Given the description of an element on the screen output the (x, y) to click on. 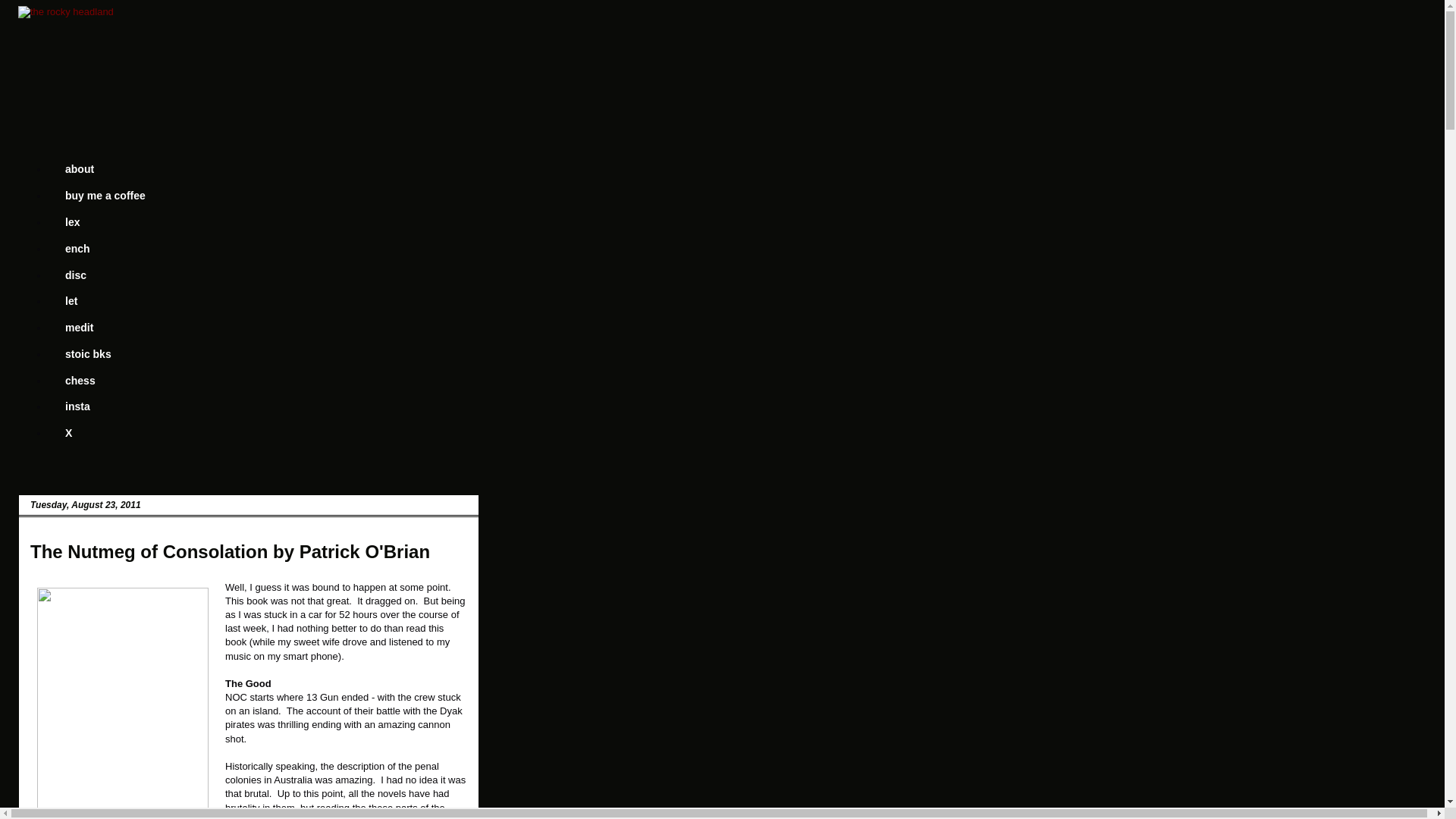
X (68, 433)
let (70, 301)
stoic bks (88, 353)
buy me a coffee (104, 195)
chess (80, 379)
medit (78, 327)
disc (74, 274)
about (79, 169)
insta (77, 406)
ench (77, 248)
The Nutmeg of Consolation by Patrick O'Brian (229, 551)
lex (72, 222)
